Given the description of an element on the screen output the (x, y) to click on. 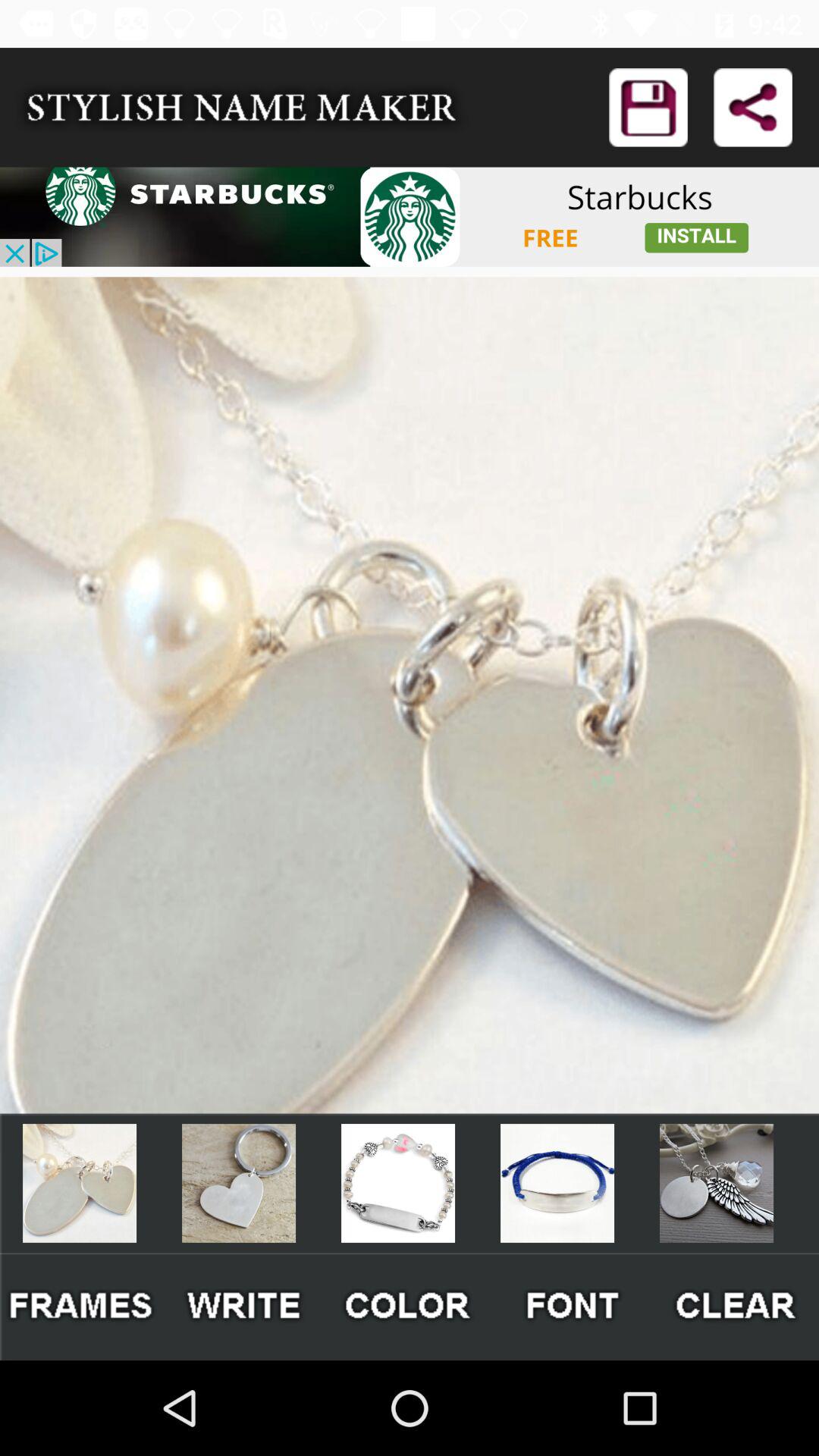
color options (408, 1306)
